Given the description of an element on the screen output the (x, y) to click on. 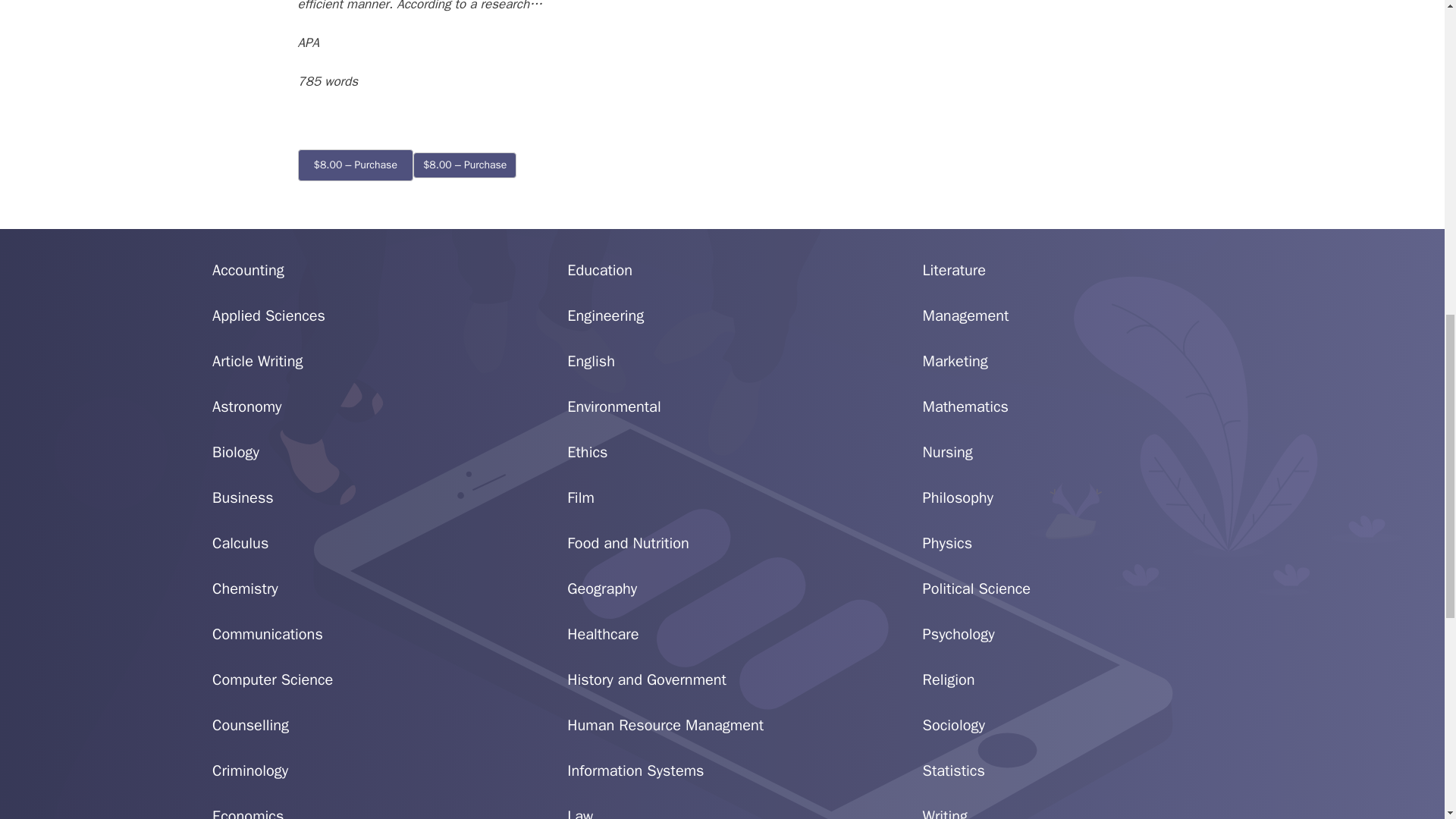
Biology (235, 452)
Computer Science (272, 679)
Business (242, 497)
Nursing (947, 452)
Applied Sciences (268, 315)
Engineering (605, 315)
Food and Nutrition (627, 542)
Accounting (247, 270)
Film (580, 497)
Marketing (955, 361)
